Given the description of an element on the screen output the (x, y) to click on. 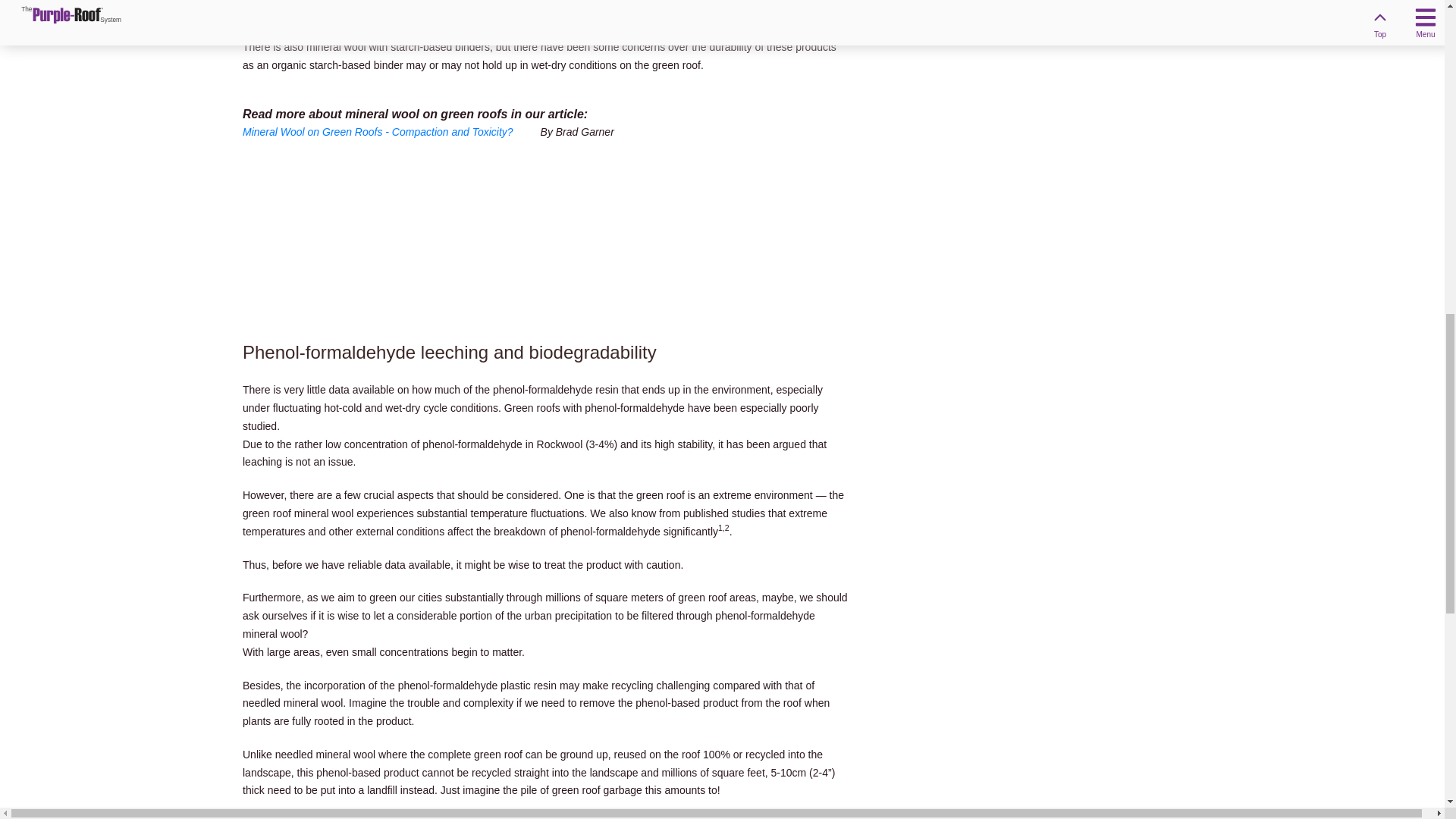
Declared (302, 13)
Declaration for Red List Free Mineral Wool (302, 13)
Mineral Wool on Green Roofs - Compaction and Toxicity? (390, 132)
This is Declare (385, 13)
Read more about mineral wool! (390, 132)
Declare label (385, 13)
